Given the description of an element on the screen output the (x, y) to click on. 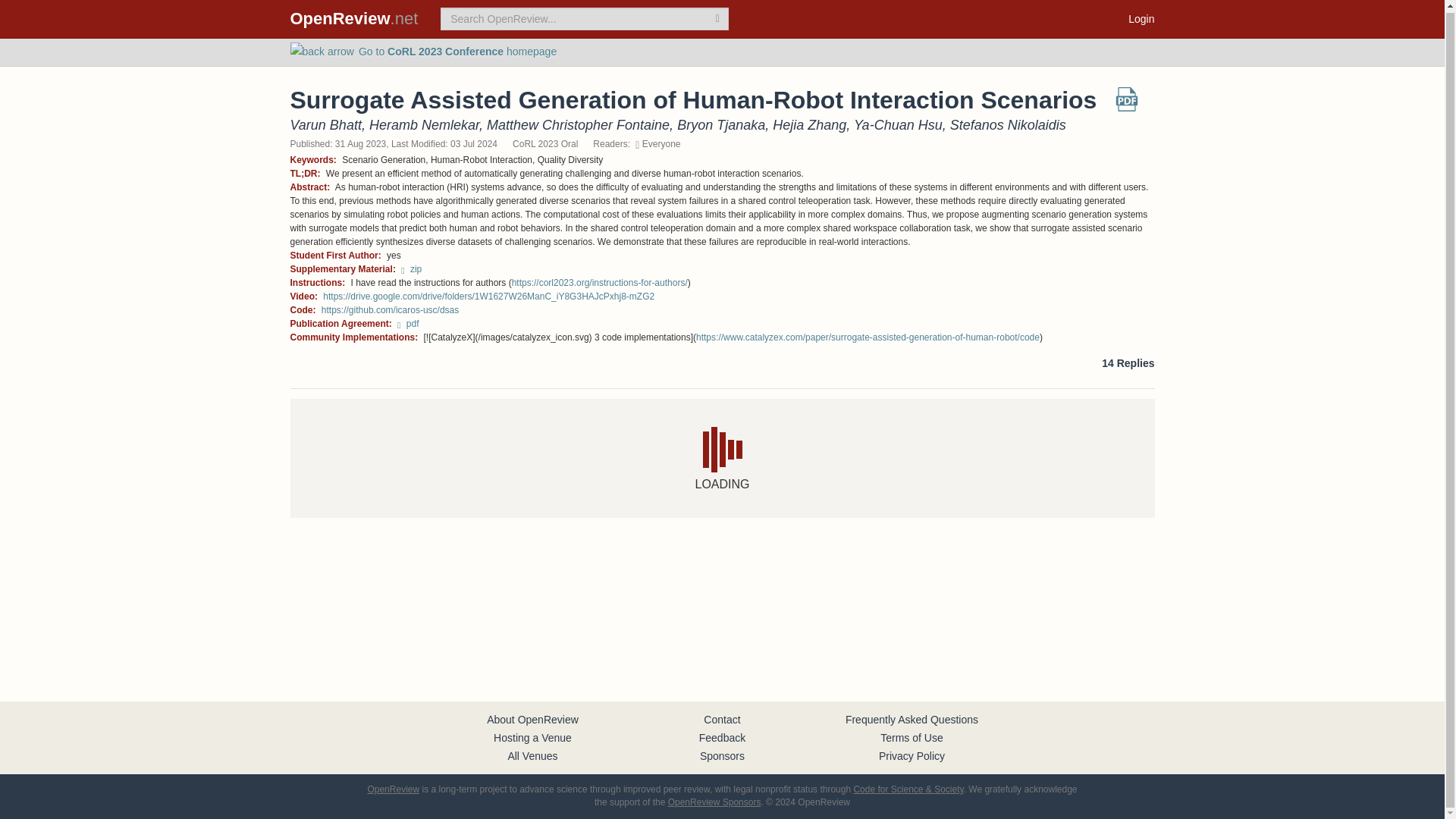
Frequently Asked Questions (911, 719)
Ya-Chuan Hsu (897, 124)
Sponsors (722, 756)
Go to CoRL 2023 Conference homepage (422, 51)
Contact (721, 719)
OpenReview.net (354, 18)
Feedback (721, 737)
Download Publication Agreement (408, 323)
Bryon Tjanaka (721, 124)
OpenReview (392, 788)
